Given the description of an element on the screen output the (x, y) to click on. 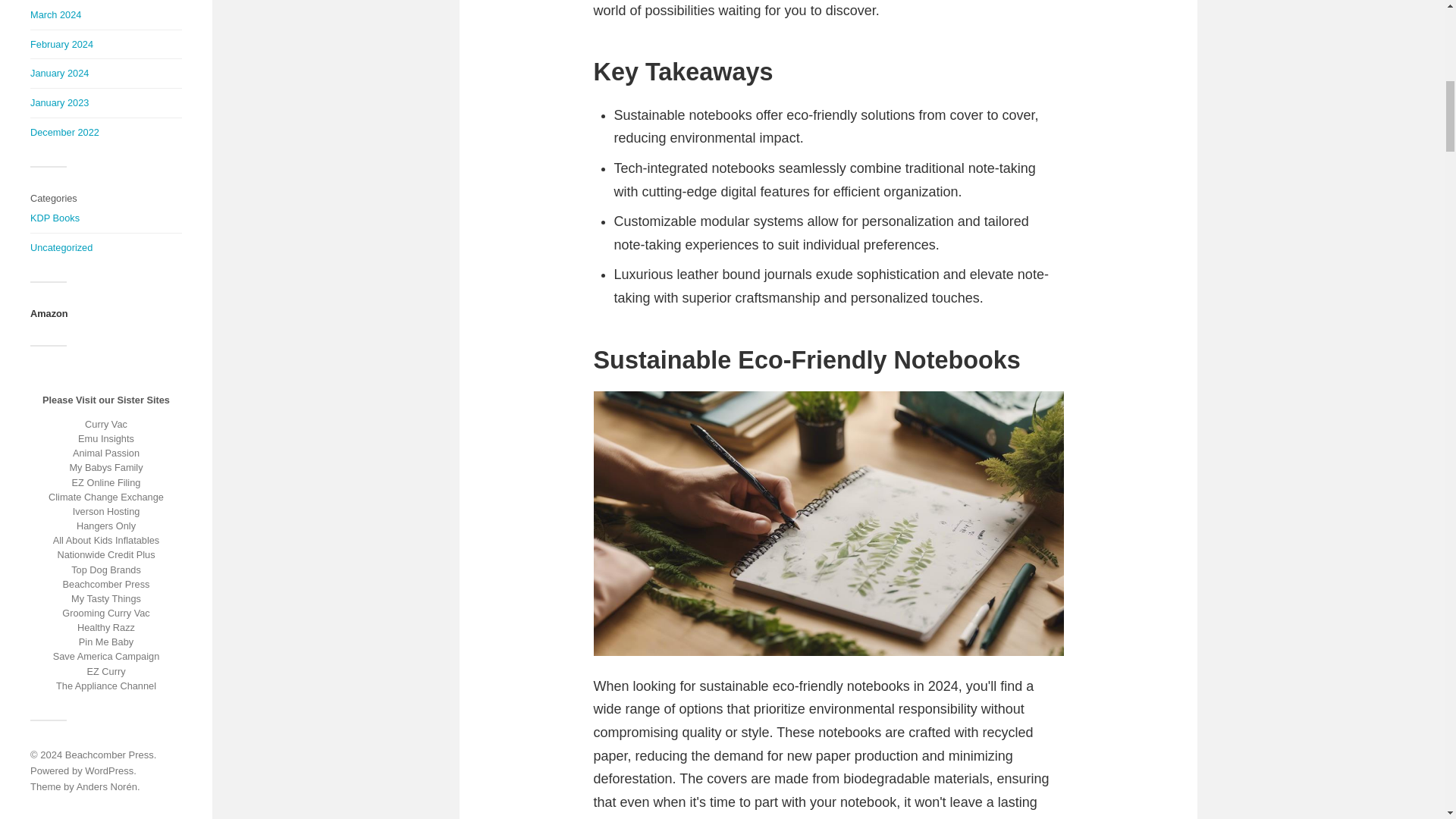
Iverson Hosting (105, 511)
January 2024 (59, 72)
Emu Insights (105, 438)
Top Dog Brands (106, 569)
Curry Vac (106, 423)
Hangers Only (106, 525)
February 2024 (61, 43)
December 2022 (64, 132)
My Babys Family (105, 467)
My Tasty Things (106, 598)
Uncategorized (61, 247)
Grooming Curry Vac (105, 613)
Animal Passion (105, 452)
KDP Books (55, 217)
Beachcomber Press (105, 583)
